Given the description of an element on the screen output the (x, y) to click on. 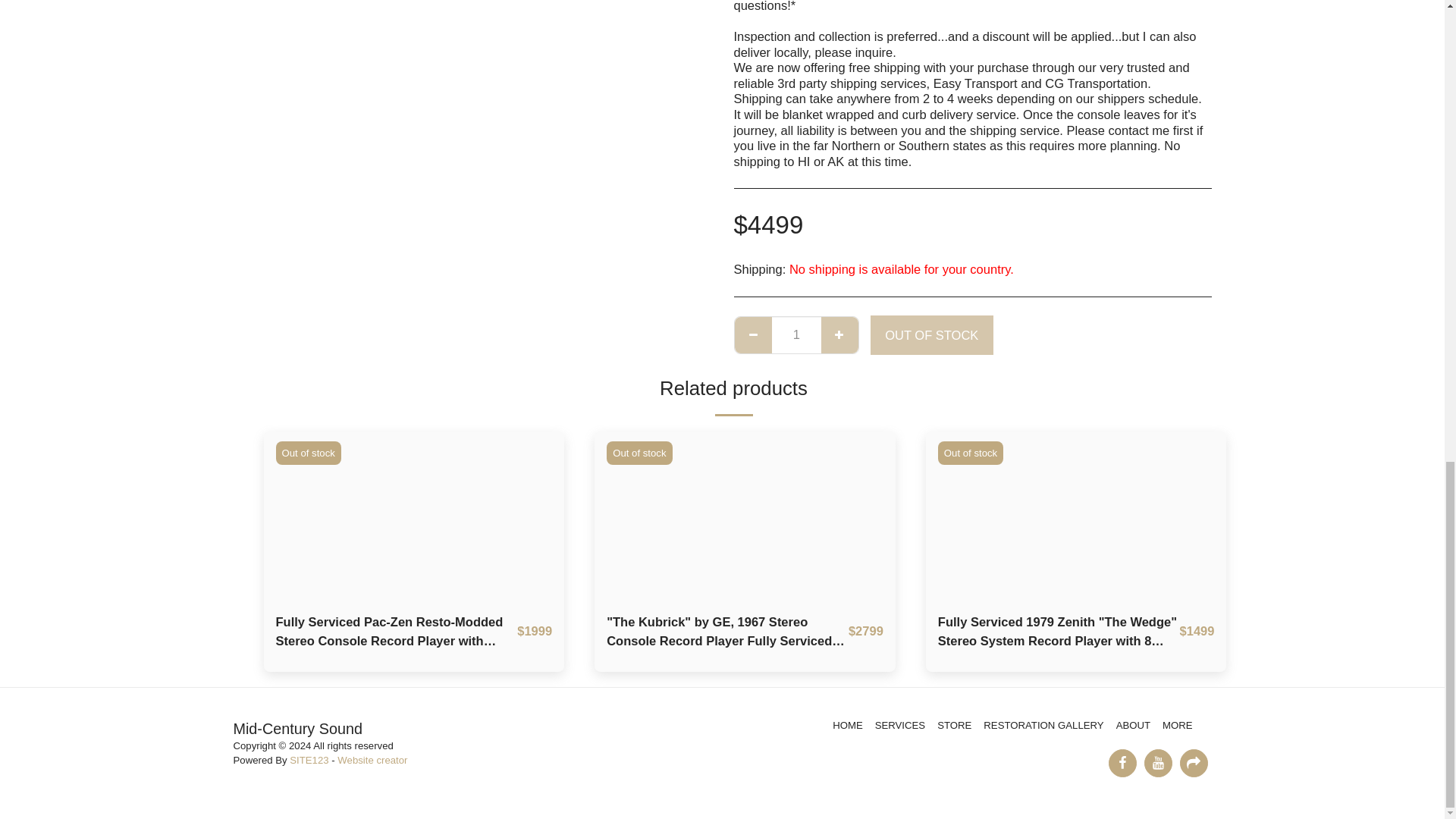
OUT OF STOCK (931, 334)
This product is out of stock. (796, 334)
1 (796, 334)
